Given the description of an element on the screen output the (x, y) to click on. 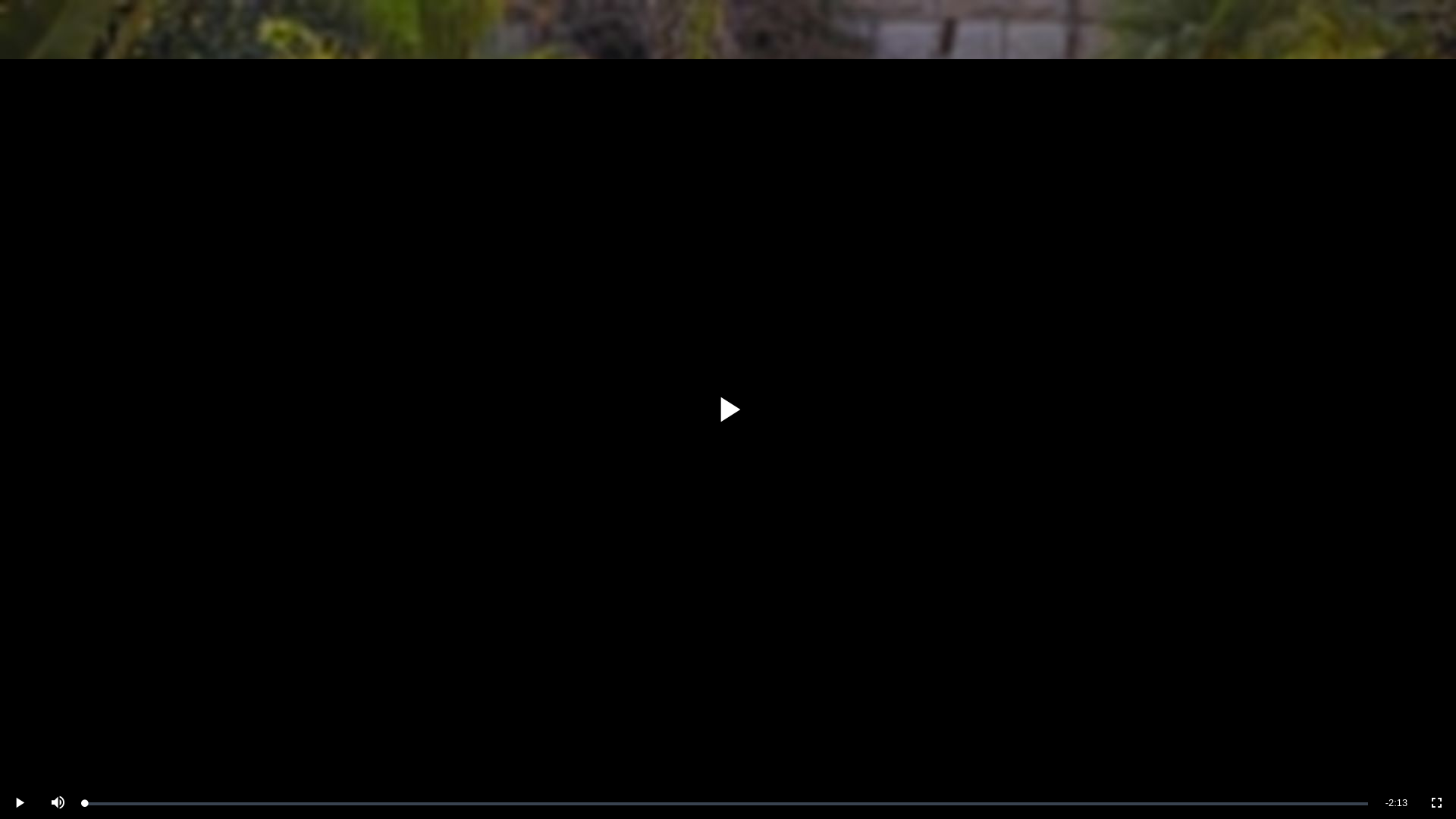
Play Video Element type: text (727, 409)
